Given the description of an element on the screen output the (x, y) to click on. 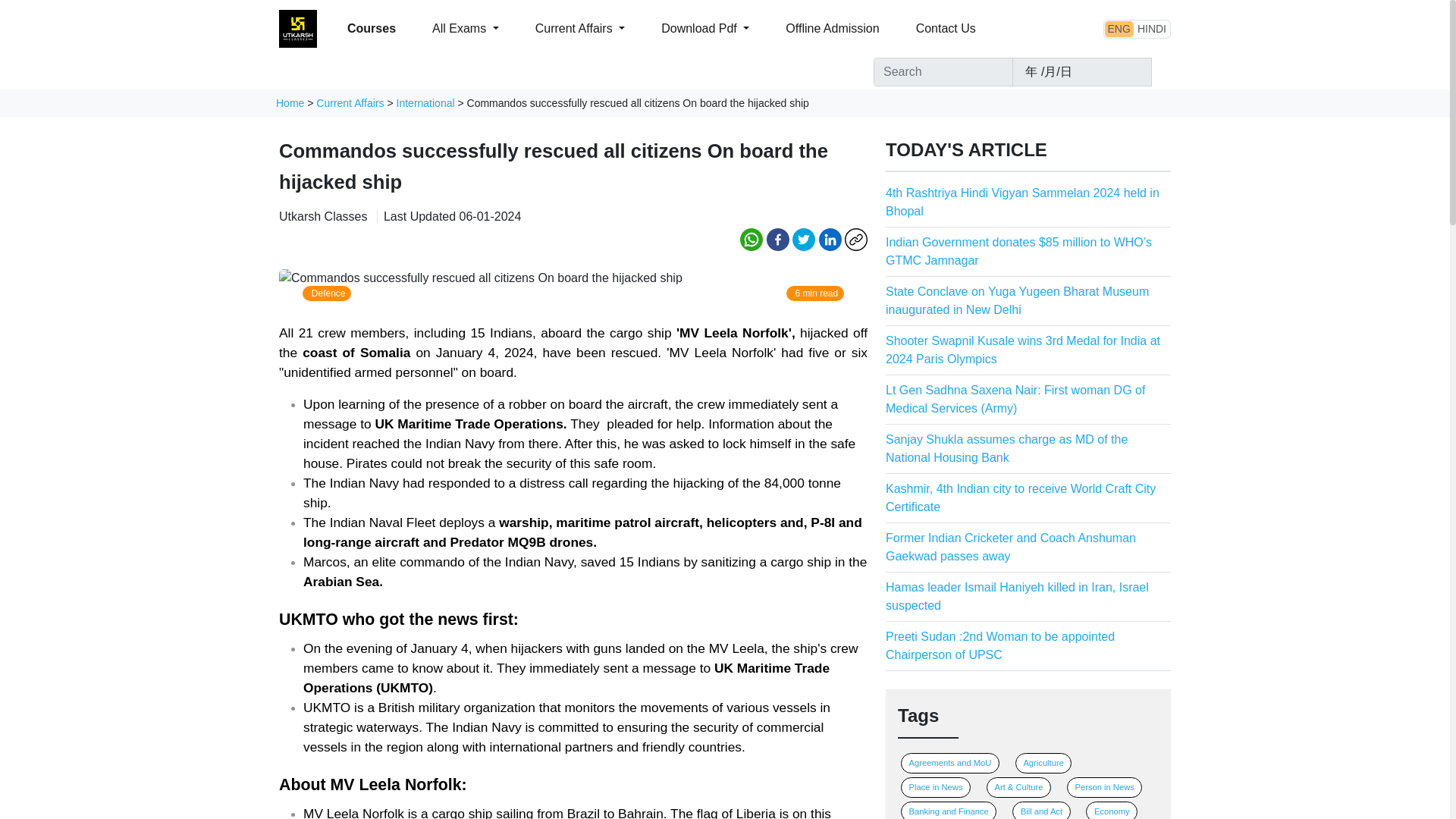
Utkarsh Classes (322, 215)
Search (1160, 67)
Courses (371, 28)
ENG (1118, 27)
Offline Admission (831, 28)
International (425, 102)
HINDI (1152, 27)
Home (290, 102)
4th Rashtriya Hindi Vigyan Sammelan 2024 held in Bhopal (1021, 201)
Current Affairs (349, 102)
Contact Us (946, 28)
